Given the description of an element on the screen output the (x, y) to click on. 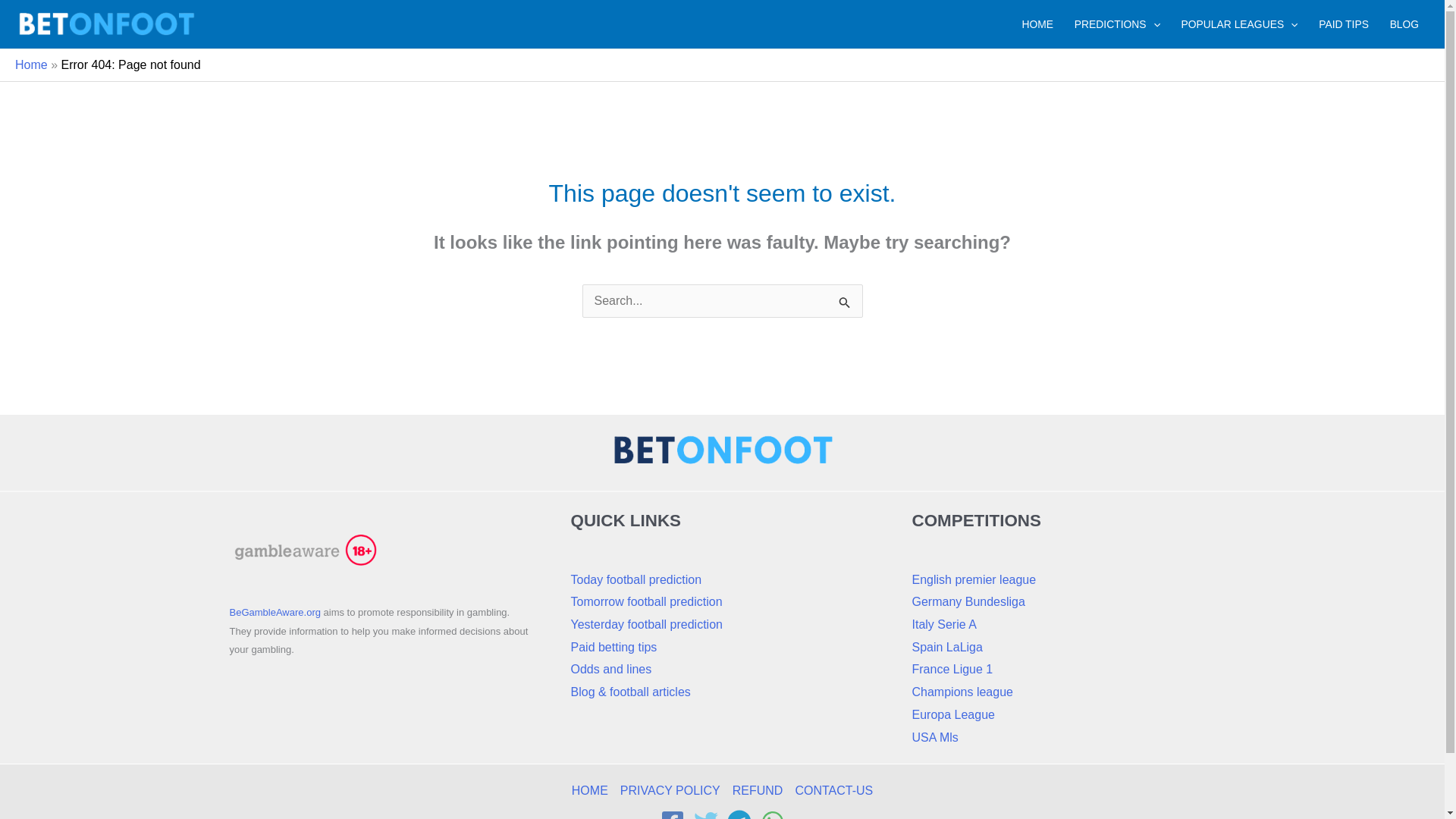
PREDICTIONS (1117, 24)
POPULAR LEAGUES (1239, 24)
HOME (1037, 24)
PAID TIPS (1342, 24)
BLOG (1403, 24)
